Given the description of an element on the screen output the (x, y) to click on. 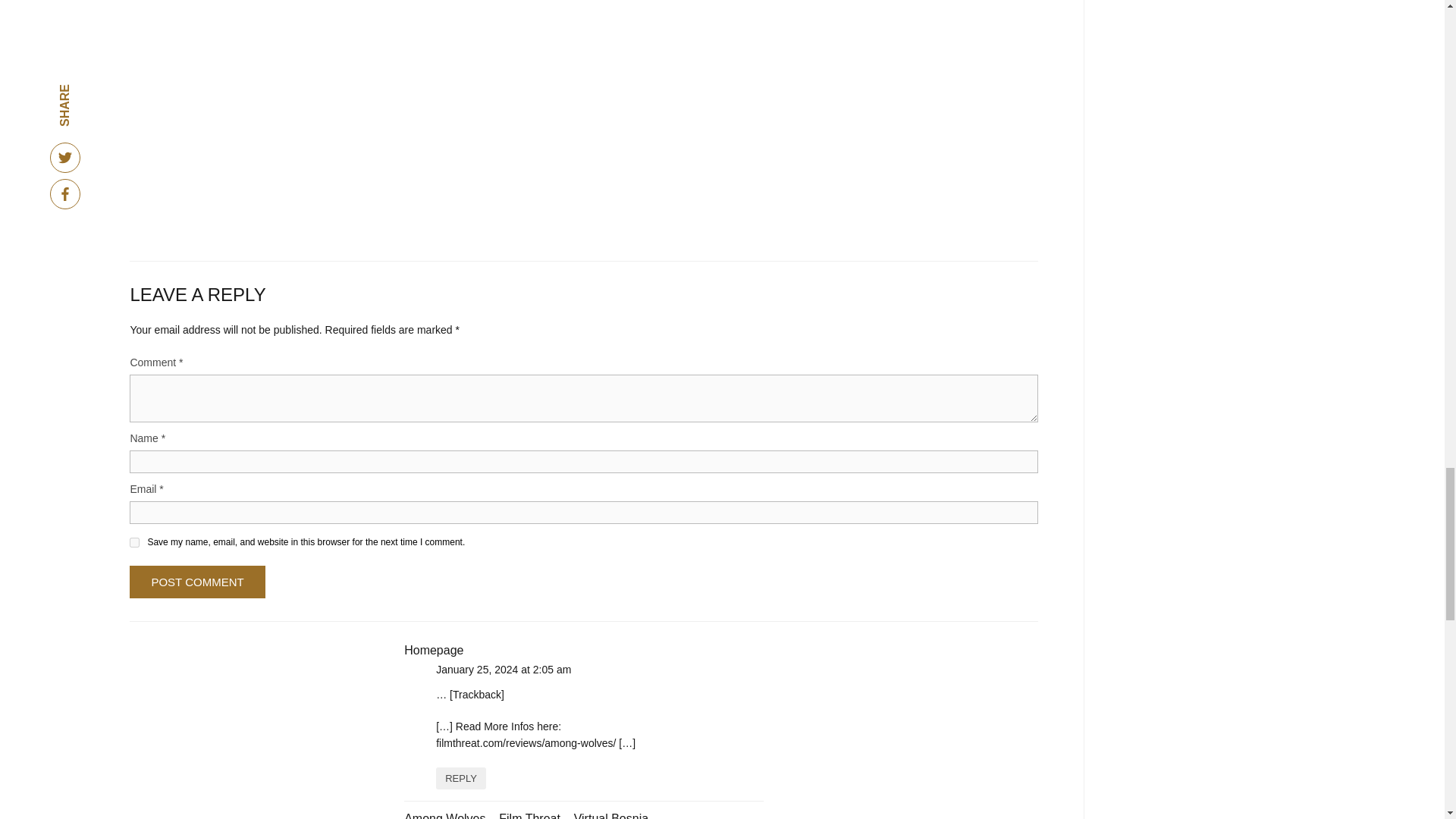
REPLY (460, 778)
Homepage (433, 649)
Post Comment (196, 581)
yes (134, 542)
January 25, 2024 at 2:05 am (502, 669)
Post Comment (196, 581)
